Given the description of an element on the screen output the (x, y) to click on. 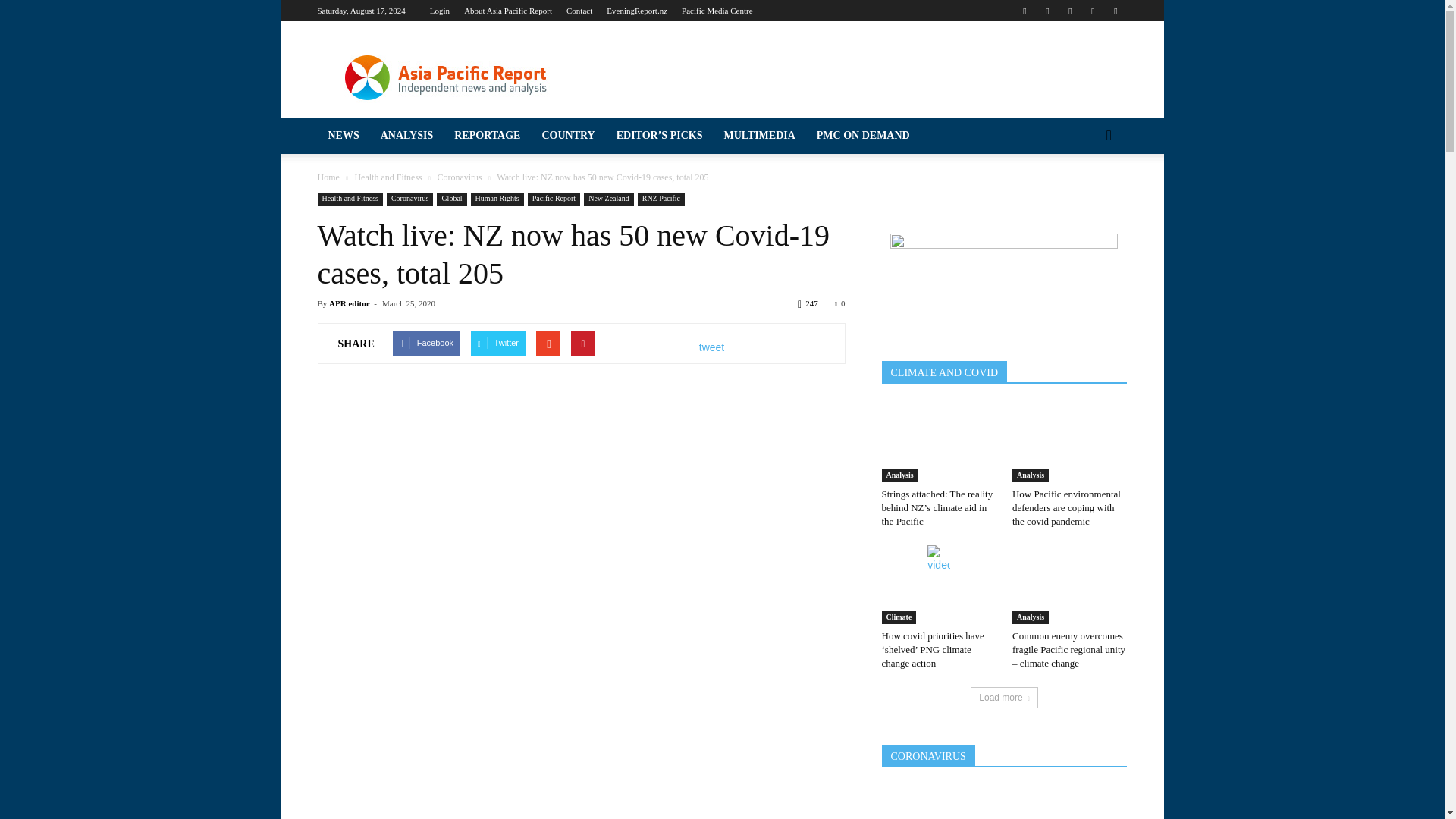
Climate (140, 244)
Papua New Guinea (140, 652)
Solomon Islands (140, 738)
ANALYSIS (140, 91)
Australia (140, 335)
RSS (1069, 10)
Cook Islands (140, 364)
Tahiti (140, 767)
Kiribati (140, 451)
Samoa (140, 710)
